Given the description of an element on the screen output the (x, y) to click on. 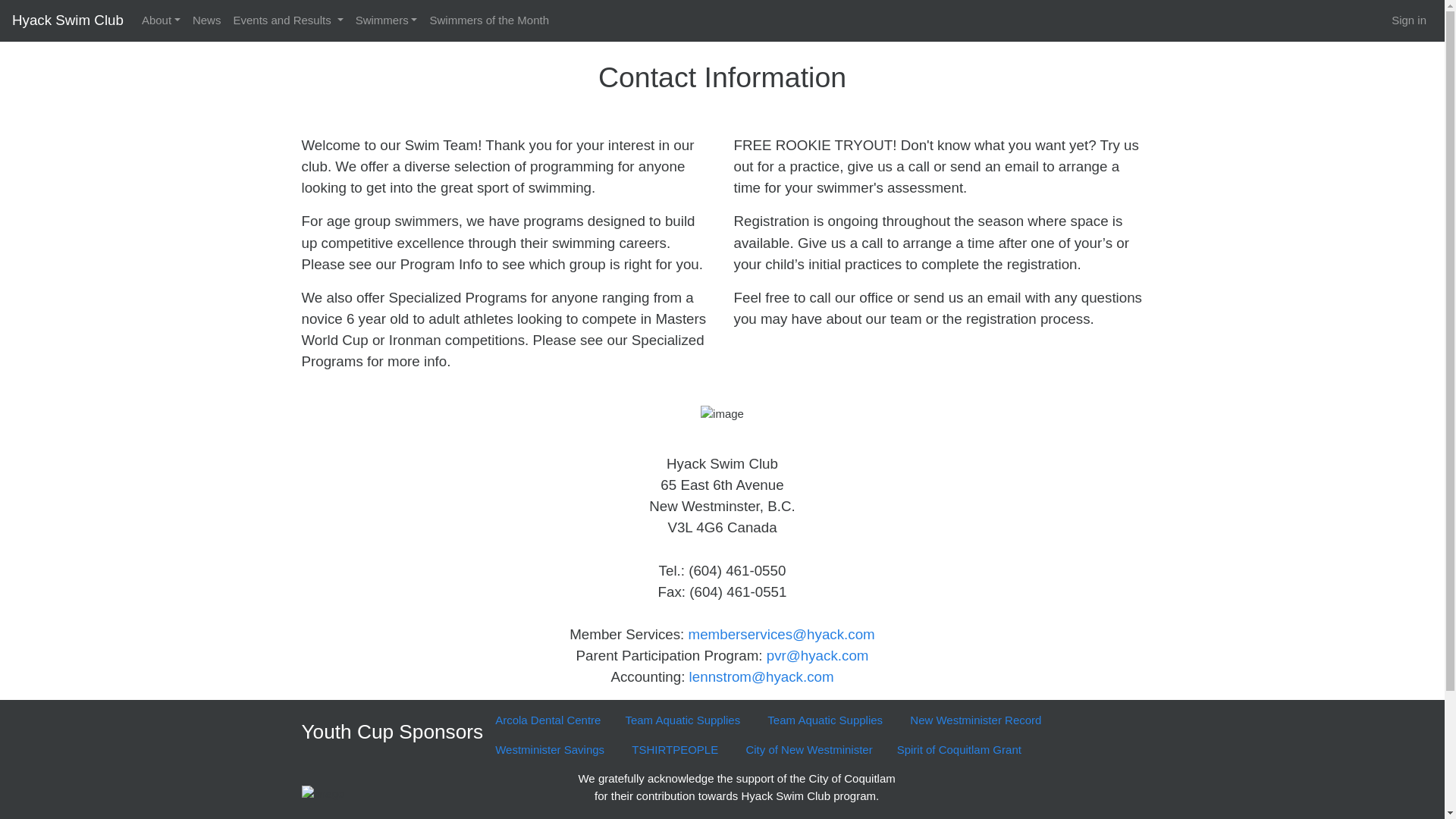
TSHIRTPEOPLE  (676, 749)
Arcola Dental Centre (547, 720)
Swimmers of the Month (488, 20)
Swimmers (386, 20)
Events and Results (288, 20)
Westminister Savings  (551, 749)
Spirit of Coquitlam Grant (959, 749)
Team Aquatic Supplies  (683, 720)
News (206, 20)
Sign in (1409, 20)
